Given the description of an element on the screen output the (x, y) to click on. 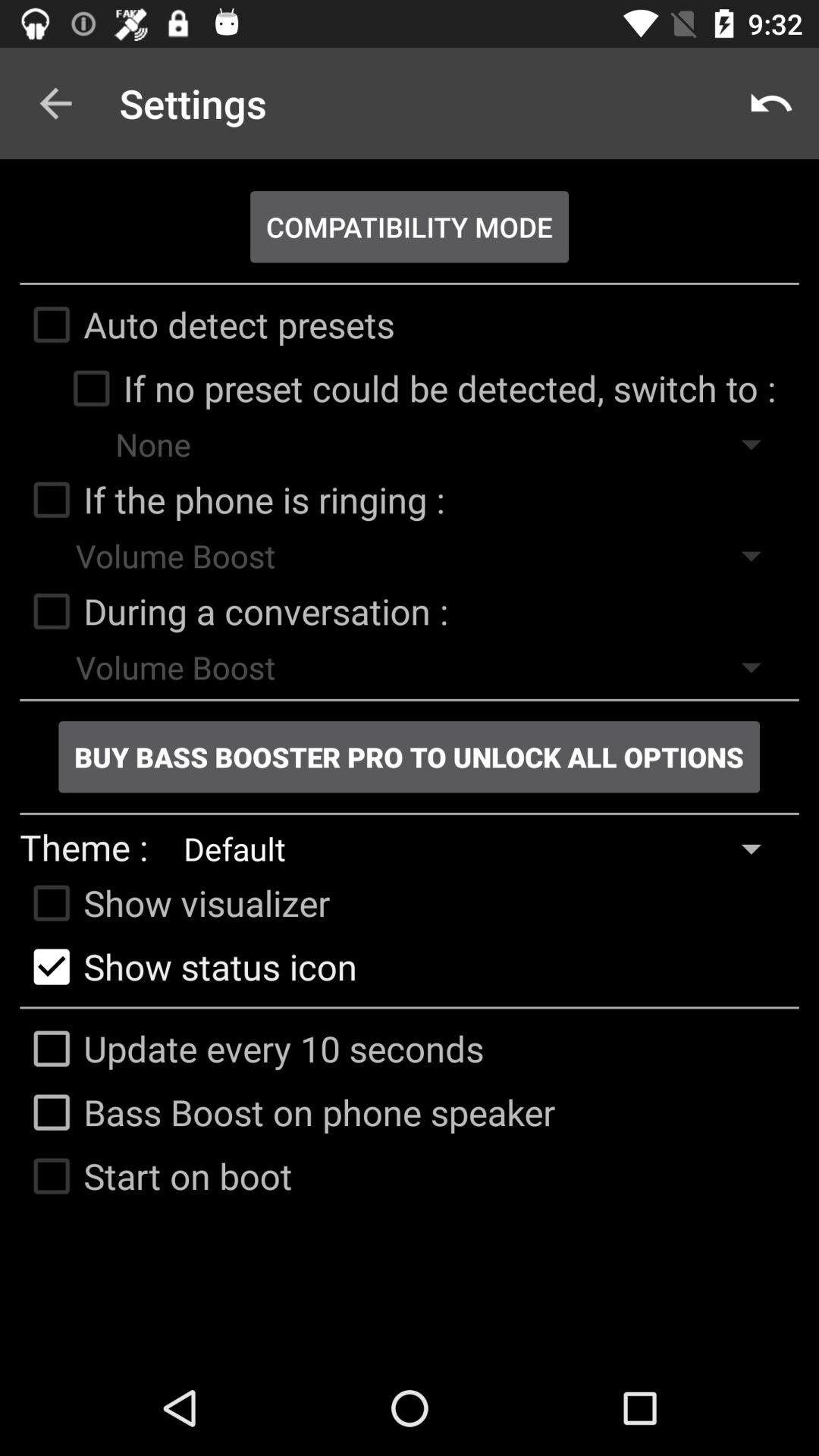
open item below the none (231, 499)
